Given the description of an element on the screen output the (x, y) to click on. 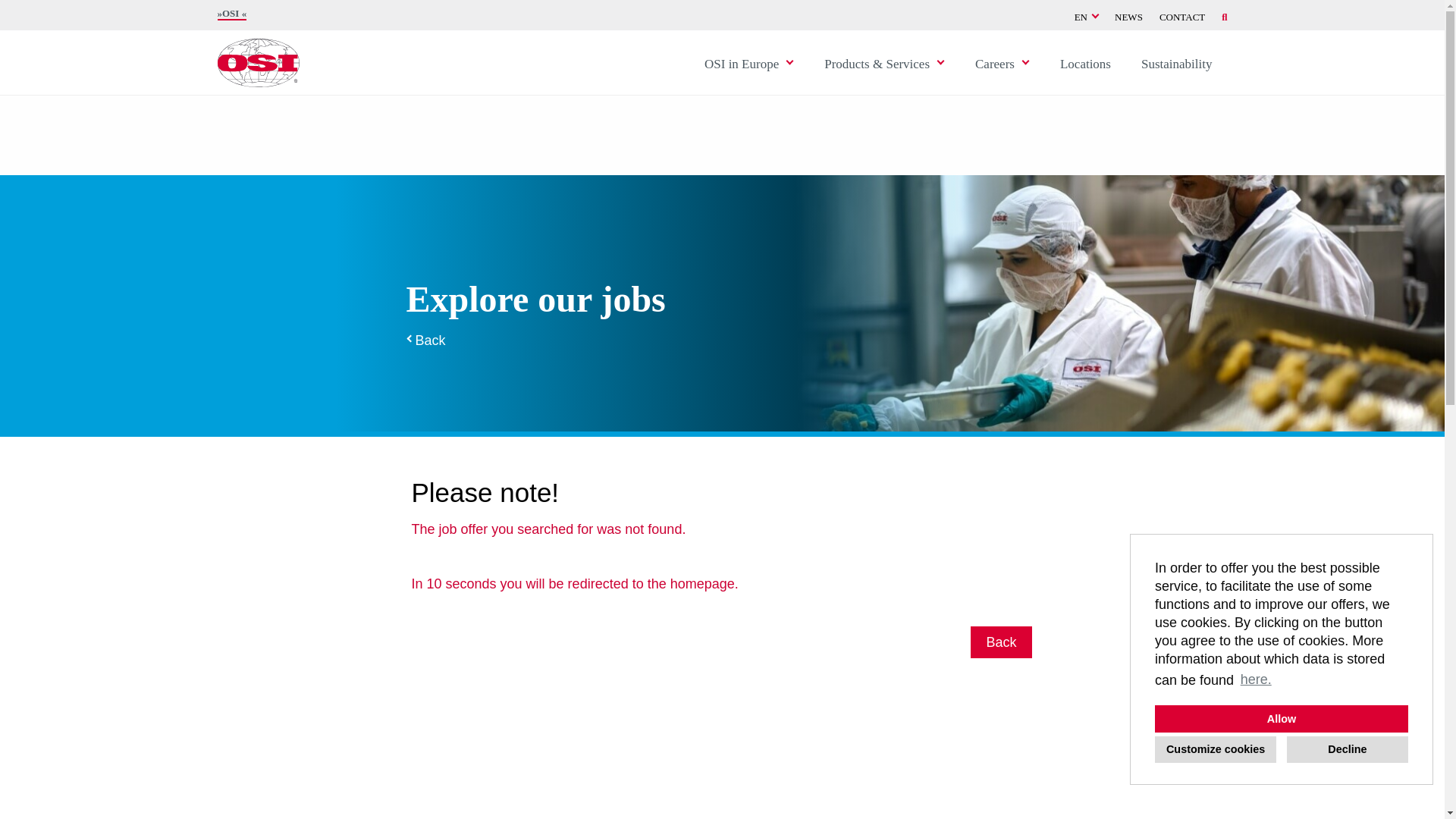
Sustainability (1176, 62)
Careers (994, 62)
NEWS (1128, 17)
OSI in Europe (740, 62)
  Back (426, 340)
Customize cookies (1215, 748)
here. (1255, 679)
Locations (1085, 62)
CONTACT (1181, 17)
Allow (1280, 718)
